Given the description of an element on the screen output the (x, y) to click on. 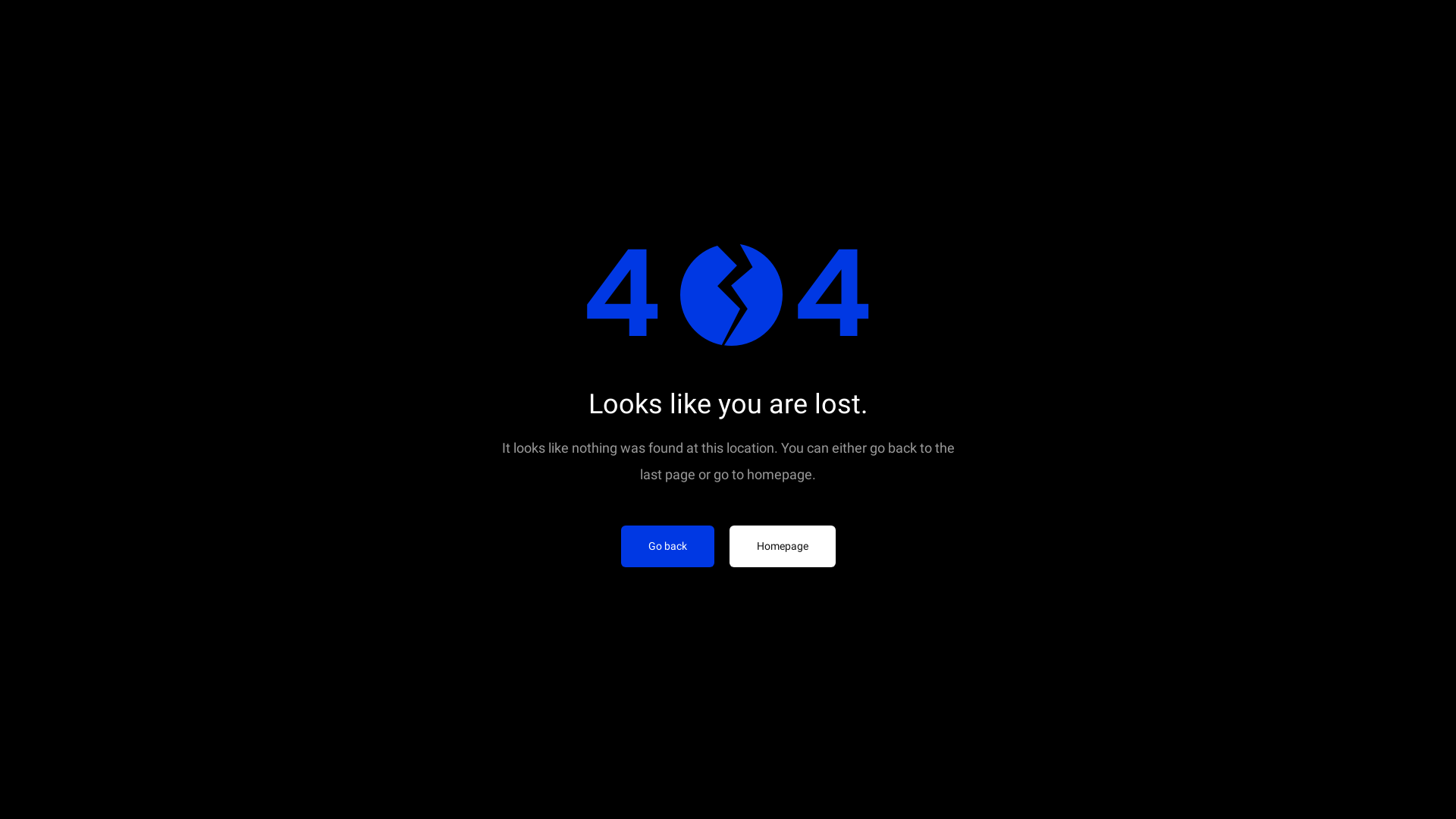
Homepage Element type: text (782, 546)
Go back Element type: text (666, 546)
